Given the description of an element on the screen output the (x, y) to click on. 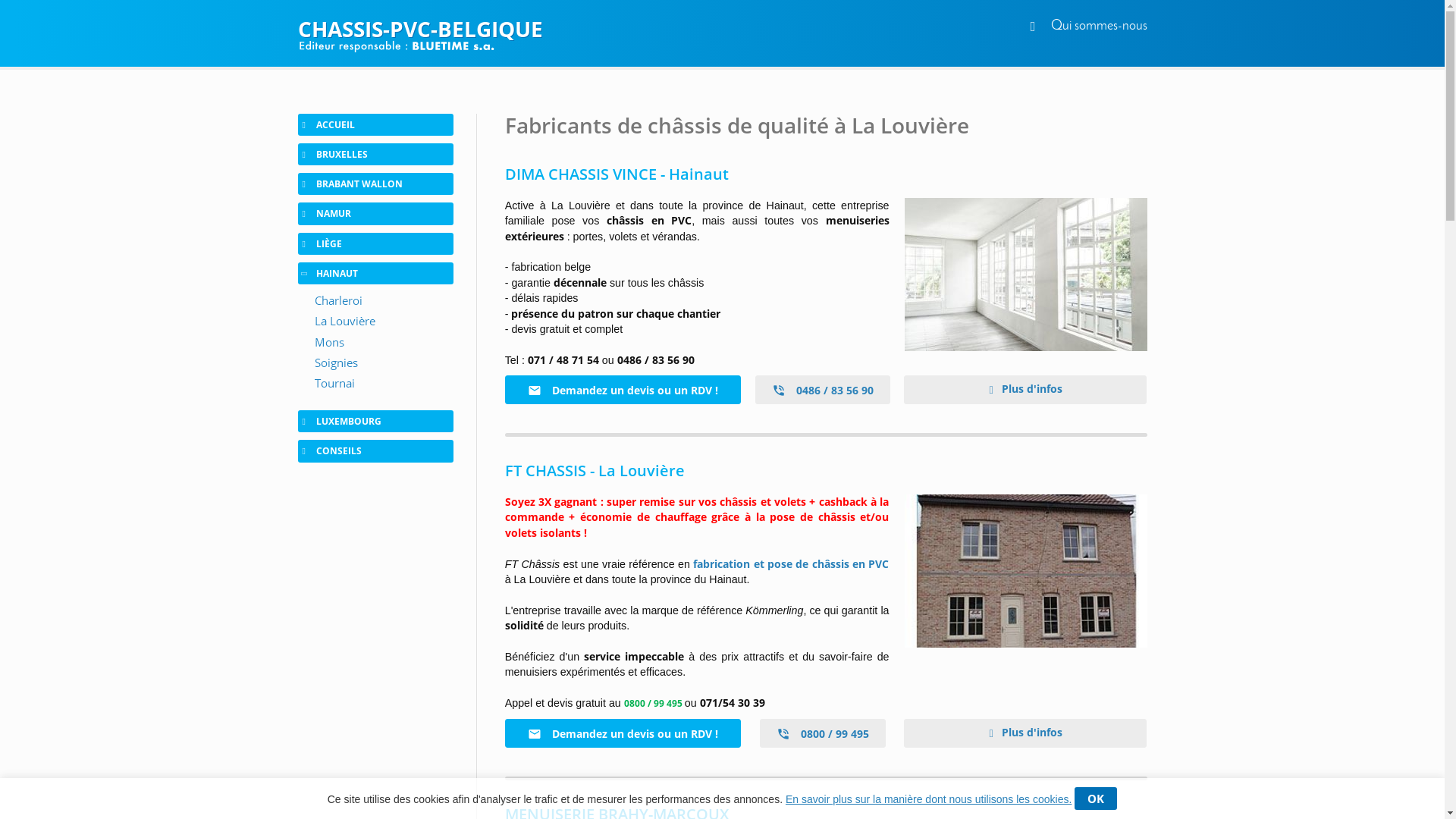
Plus d'infos Element type: text (1024, 389)
Demandez un devis ou un RDV ! Element type: text (622, 389)
0800 / 99 495 Element type: text (822, 732)
Visitez leur site Element type: hover (1024, 274)
Plus d'infos Element type: text (1024, 732)
CHASSIS-PVC-BELGIQUE Element type: text (721, 28)
www.ftchassis.be Element type: hover (1024, 570)
Qui sommes-nous Element type: text (1099, 25)
0486 / 83 56 90 Element type: text (822, 389)
Demandez un devis ou un RDV ! Element type: text (622, 732)
